Given the description of an element on the screen output the (x, y) to click on. 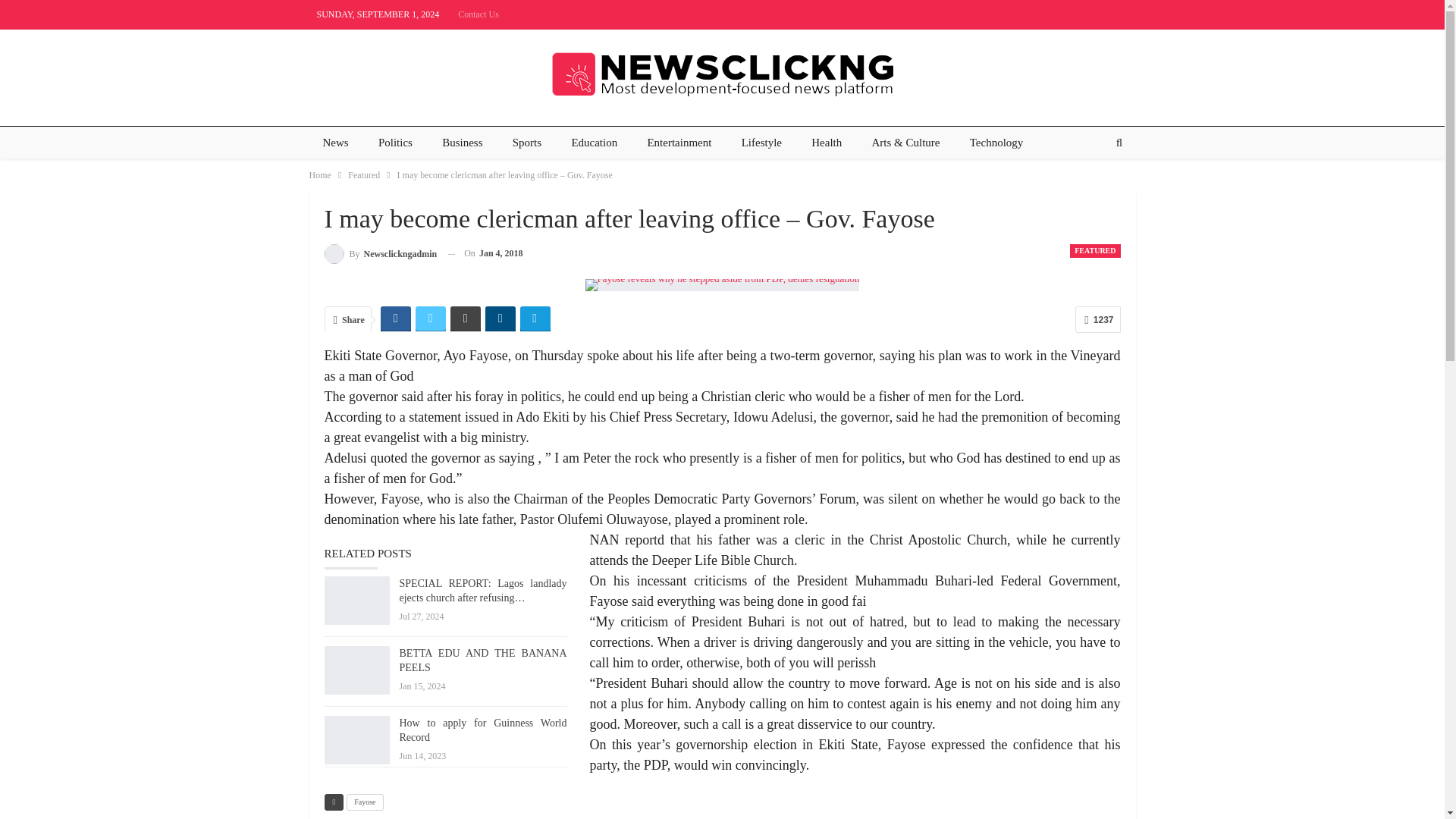
Entertainment (679, 142)
Sports (526, 142)
Lifestyle (761, 142)
FEATURED (1094, 250)
How to apply for Guinness World Record (357, 739)
Home (319, 175)
Contact Us (478, 14)
Health (826, 142)
Politics (395, 142)
How to apply for Guinness World Record (482, 729)
